Given the description of an element on the screen output the (x, y) to click on. 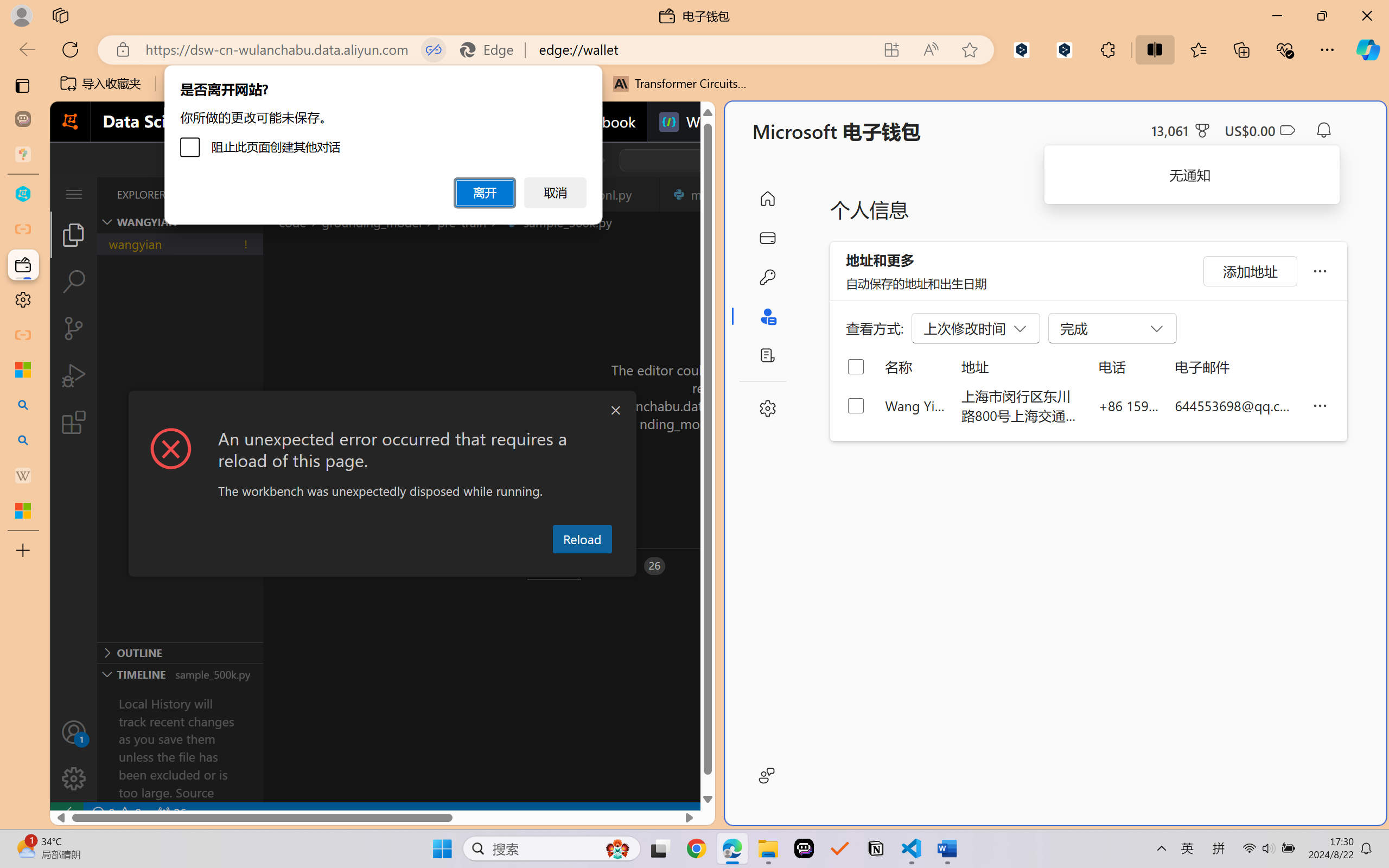
Terminal actions (1002, 565)
Microsoft security help and learning (22, 369)
Debug Console (Ctrl+Shift+Y) (463, 565)
